Given the description of an element on the screen output the (x, y) to click on. 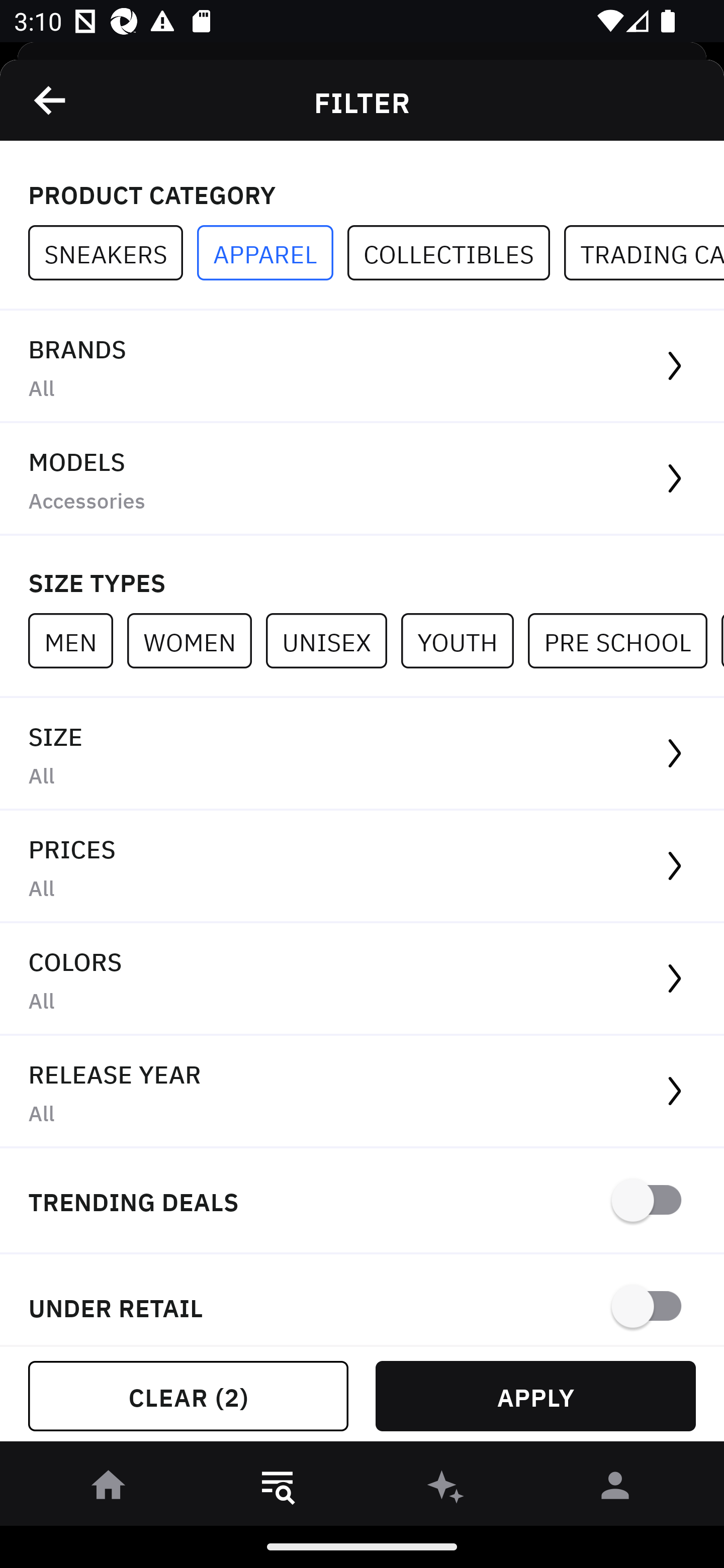
 (50, 100)
SNEAKERS (112, 252)
APPAREL (271, 252)
COLLECTIBLES (455, 252)
TRADING CARDS (643, 252)
BRANDS All (362, 366)
MODELS Accessories (362, 479)
MEN (77, 640)
WOMEN (196, 640)
UNISEX (333, 640)
YOUTH (464, 640)
PRE SCHOOL (624, 640)
SIZE All (362, 753)
PRICES All (362, 866)
COLORS All (362, 979)
RELEASE YEAR All (362, 1091)
TRENDING DEALS (362, 1200)
UNDER RETAIL (362, 1299)
CLEAR (2) (188, 1396)
APPLY (535, 1396)
󰋜 (108, 1488)
󱎸 (277, 1488)
󰫢 (446, 1488)
󰀄 (615, 1488)
